Given the description of an element on the screen output the (x, y) to click on. 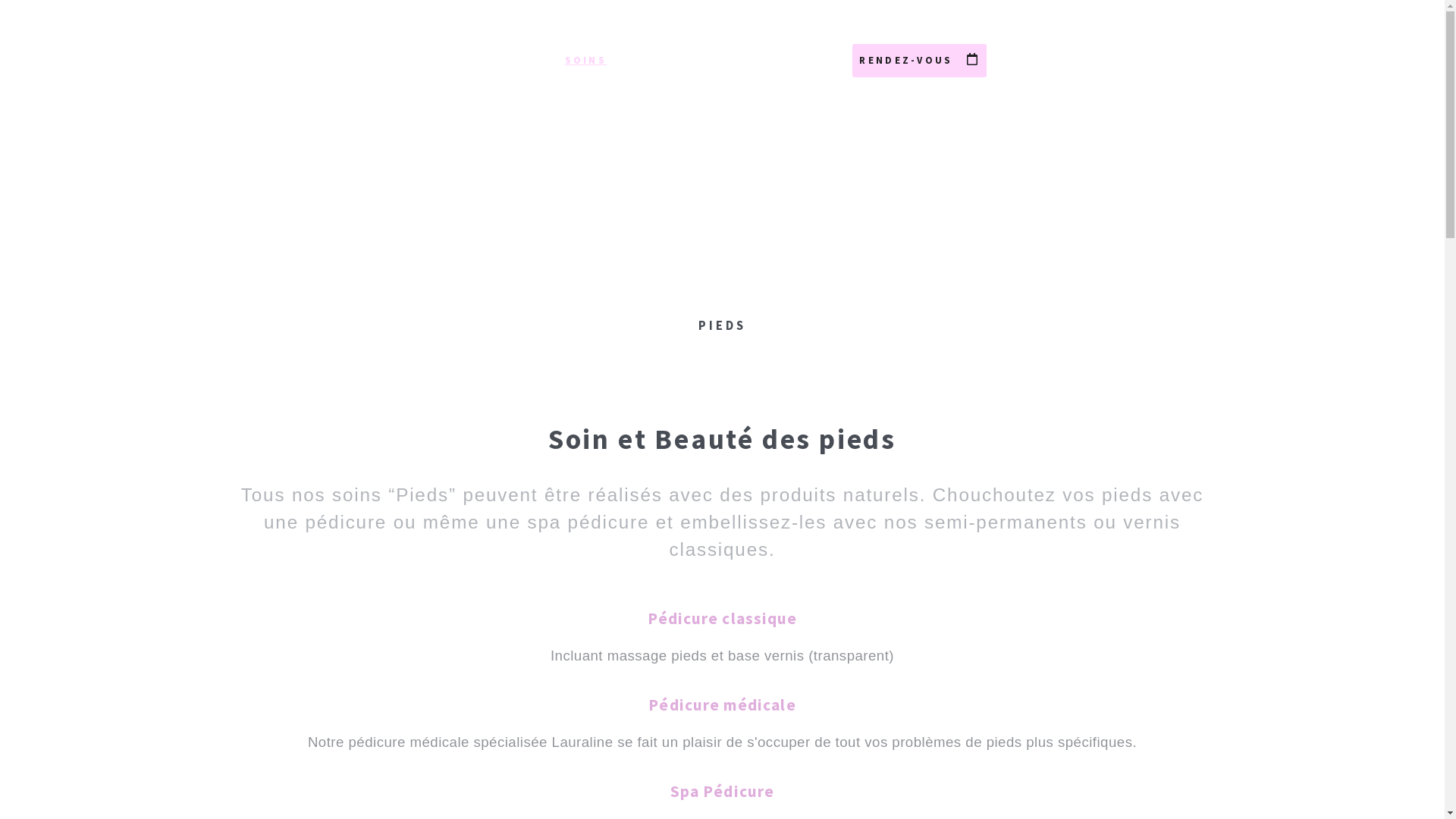
PHOTOS Element type: text (777, 59)
ACCUEIL Element type: text (487, 59)
TARIFS Element type: text (677, 59)
SOINS Element type: text (585, 59)
